Given the description of an element on the screen output the (x, y) to click on. 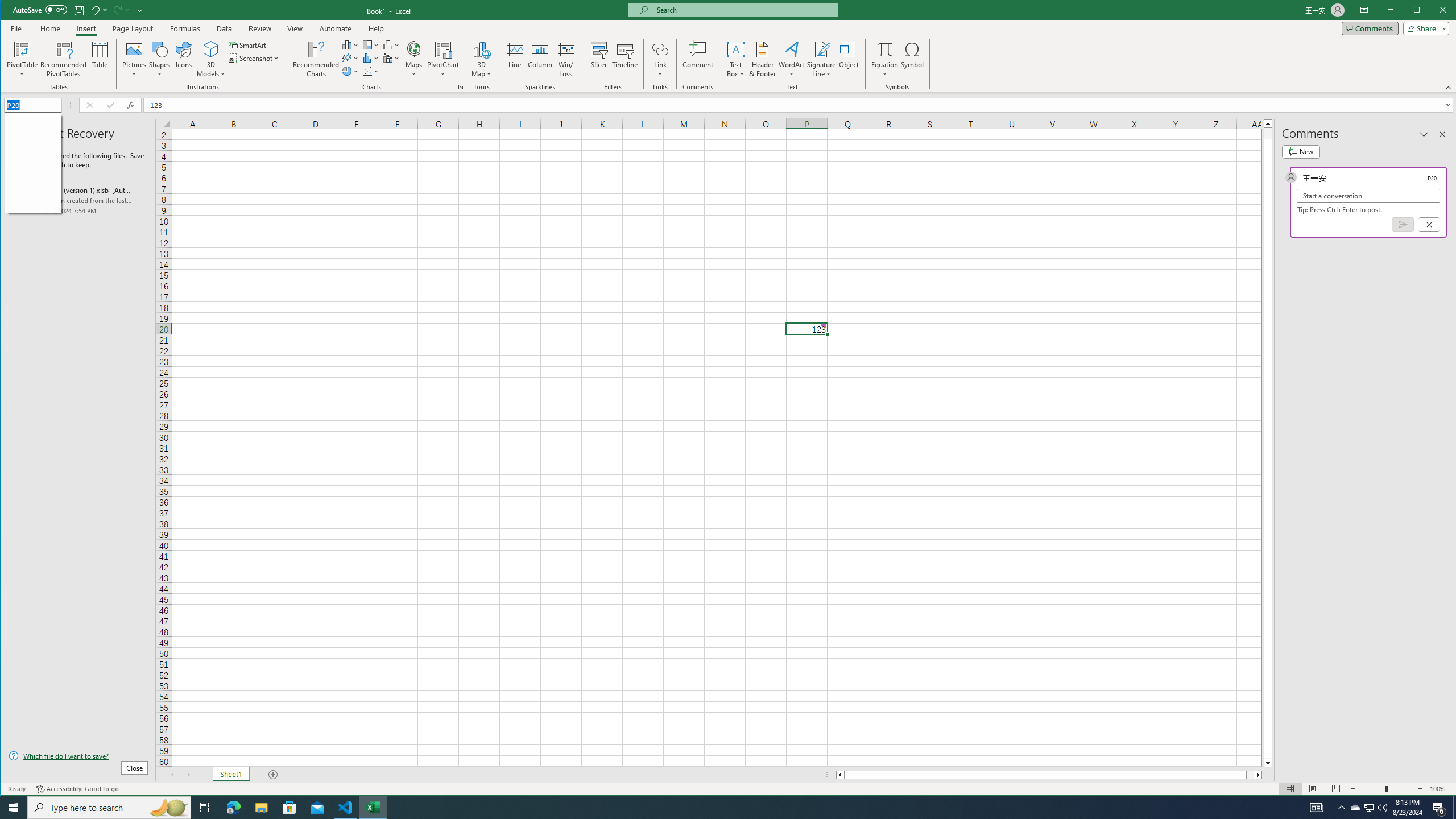
Timeline (625, 59)
Header & Footer... (1368, 807)
Notification Chevron (762, 59)
User Promoted Notification Area (1341, 807)
Recommended PivotTables (1368, 807)
Insert Hierarchy Chart (63, 59)
Visual Studio Code - 1 running window (371, 44)
